Given the description of an element on the screen output the (x, y) to click on. 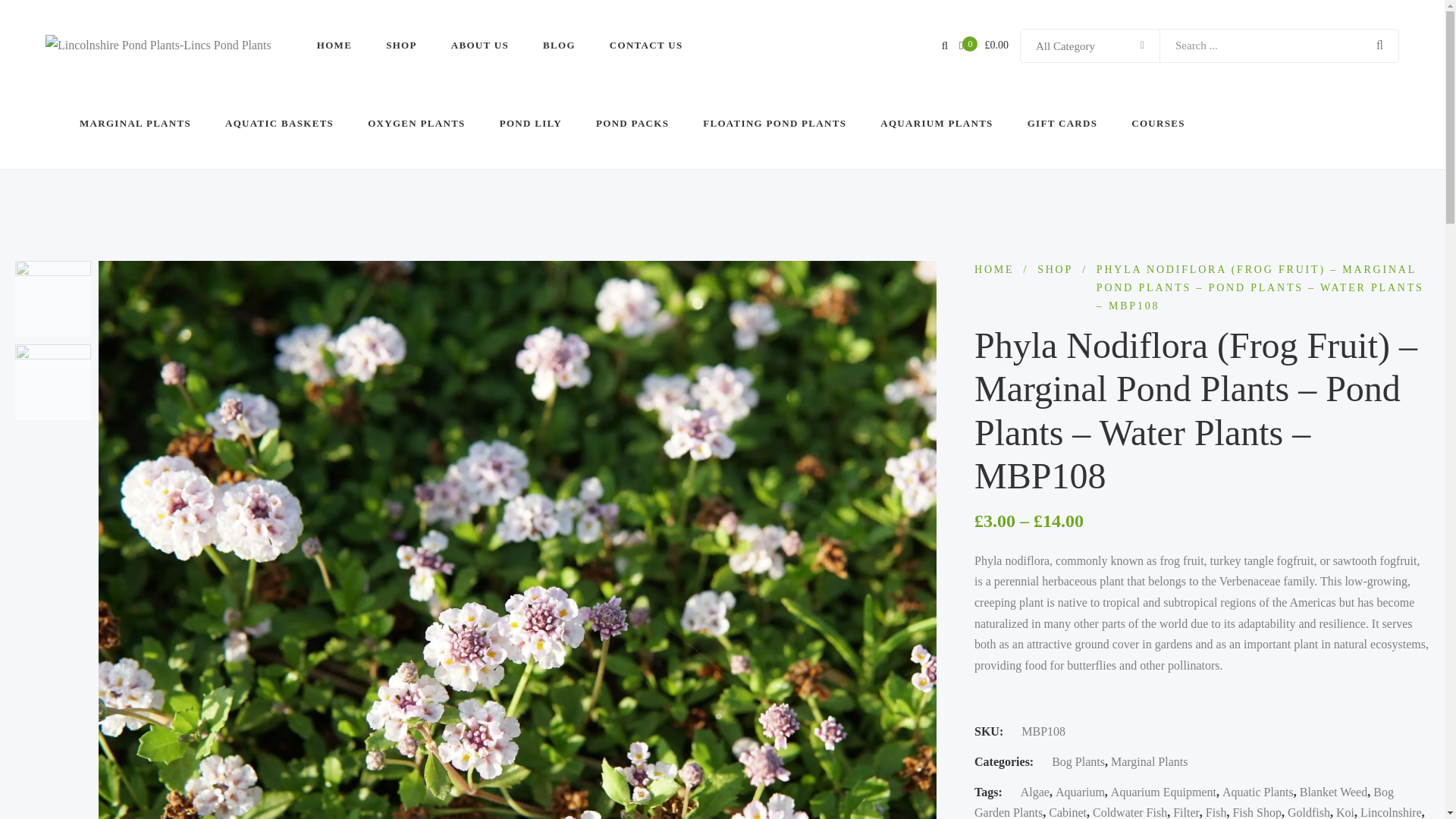
HOME (334, 45)
OXYGEN PLANTS (416, 123)
ABOUT US (479, 45)
Lincolnshire Pond Plants-Lincs Pond Plants (157, 45)
BLOG (559, 45)
SHOP (400, 45)
POND PACKS (631, 123)
AQUATIC BASKETS (279, 123)
CONTACT US (646, 45)
